Given the description of an element on the screen output the (x, y) to click on. 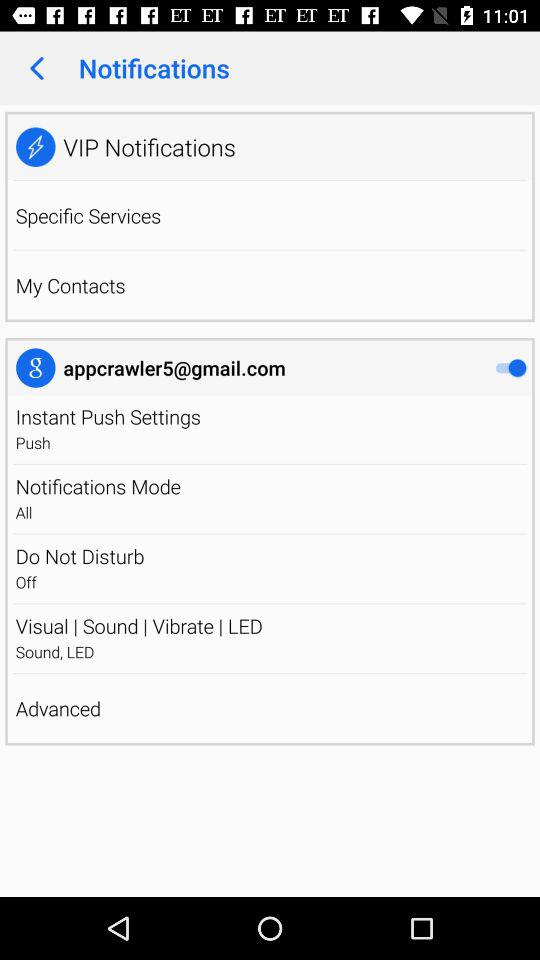
open app next to the vip notifications icon (35, 146)
